Given the description of an element on the screen output the (x, y) to click on. 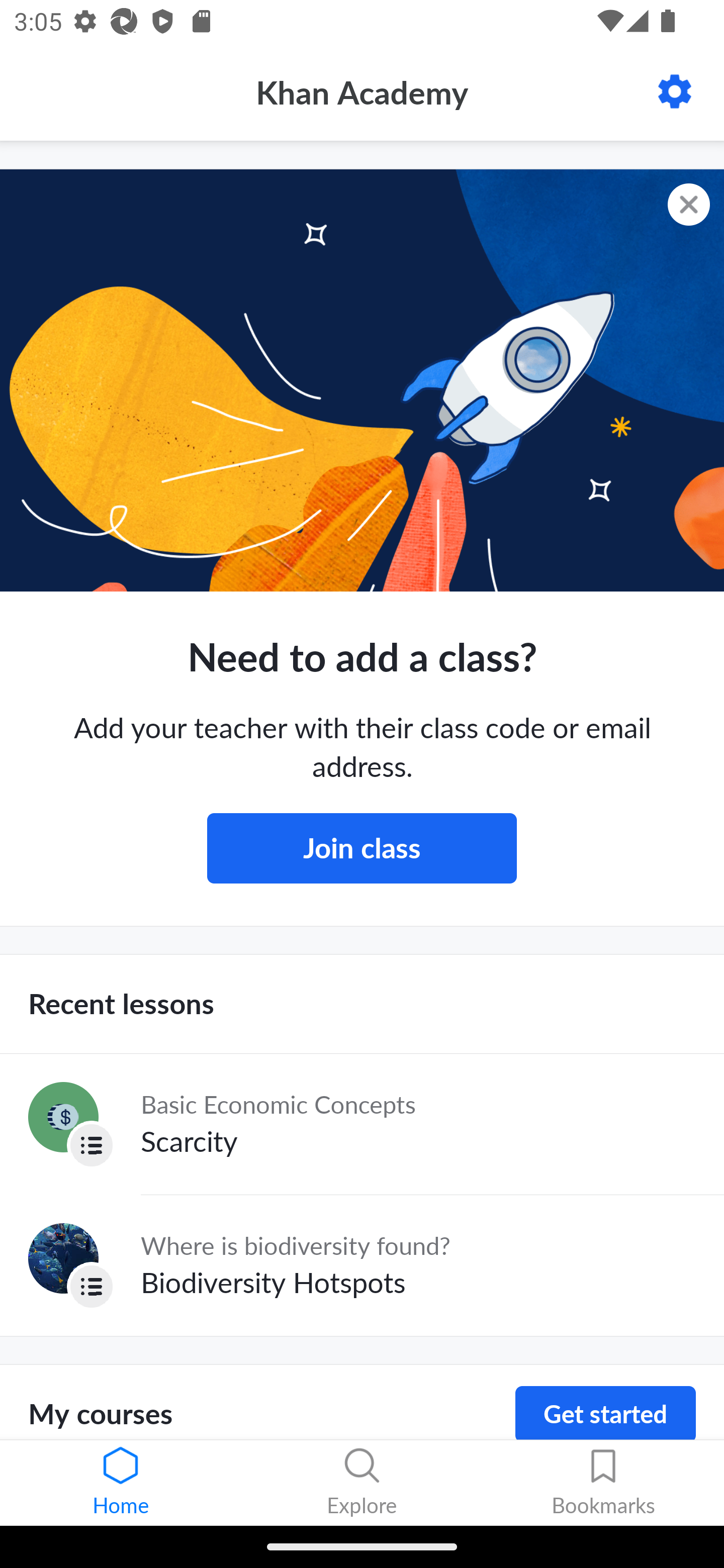
Settings (674, 91)
Dismiss (688, 204)
Join class (361, 847)
Lesson Basic Economic Concepts Scarcity (362, 1123)
Get started (605, 1412)
Home (120, 1482)
Explore (361, 1482)
Bookmarks (603, 1482)
